Given the description of an element on the screen output the (x, y) to click on. 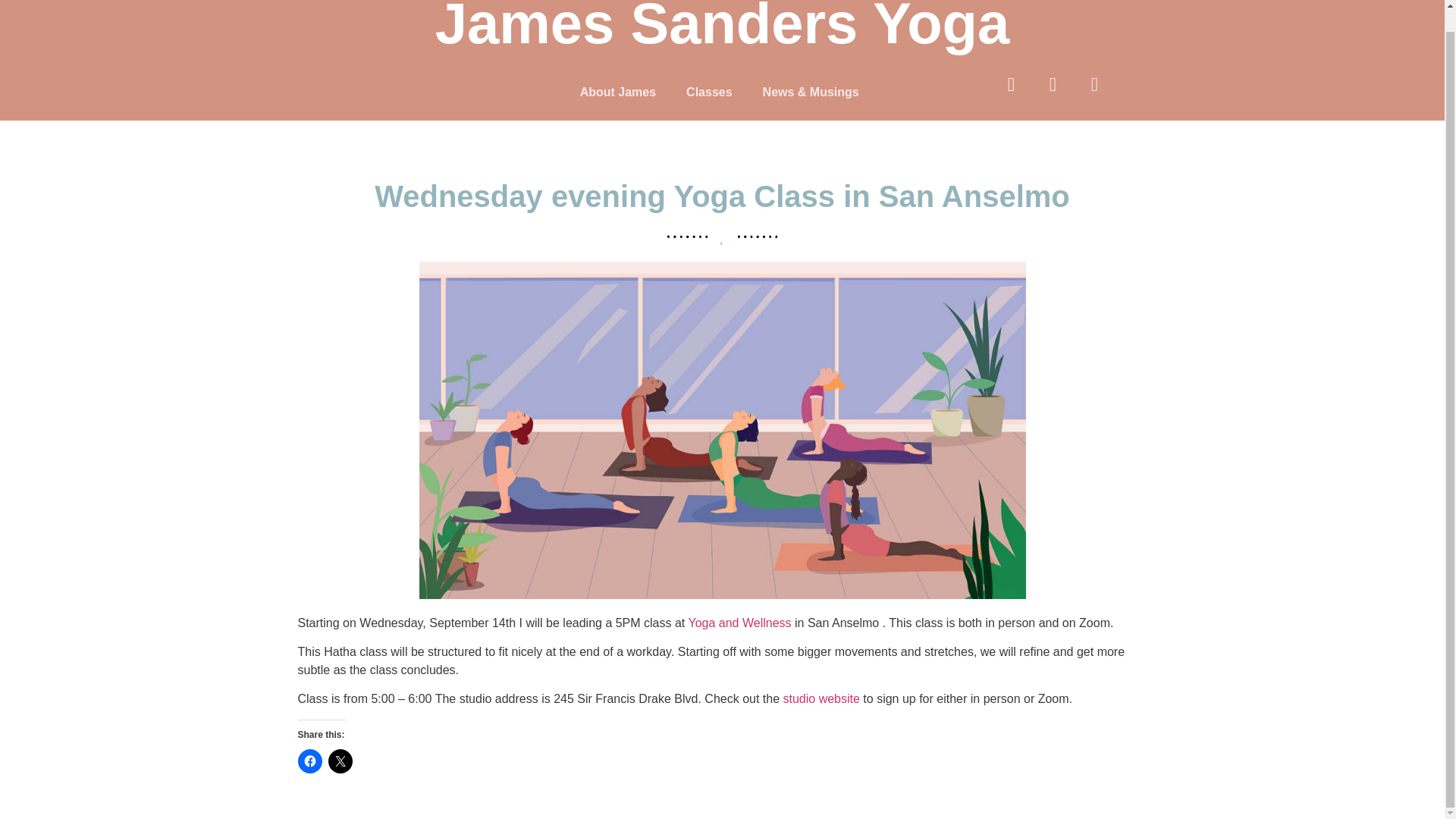
Click to share on X (339, 761)
studio website (821, 698)
studio website (821, 698)
Click to share on Facebook (309, 761)
James Sanders Yoga (722, 27)
About James (617, 92)
Yoga and Wellness (738, 622)
Classes (709, 92)
